Given the description of an element on the screen output the (x, y) to click on. 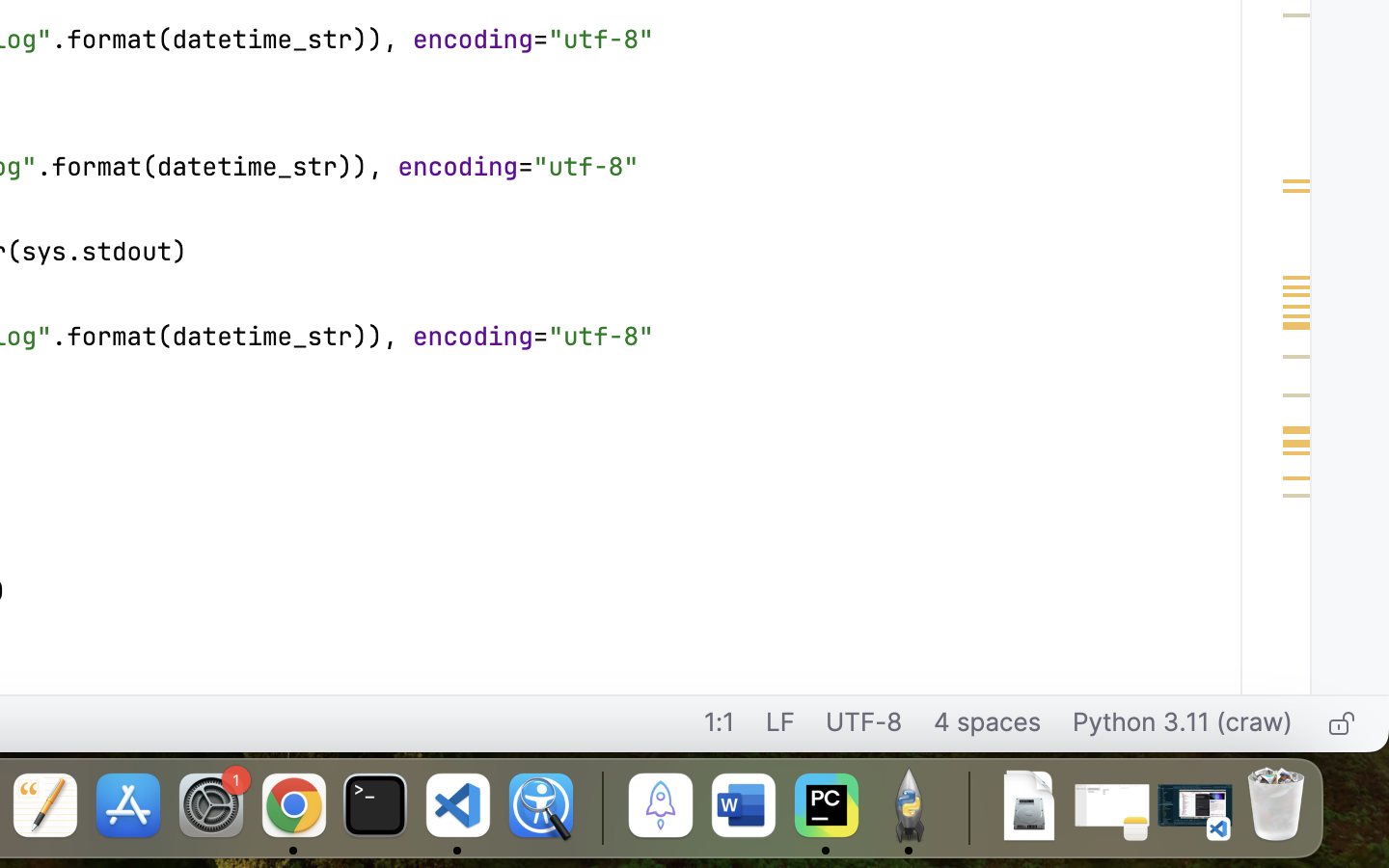
UTF-8 Element type: AXStaticText (864, 724)
4 spaces Element type: AXStaticText (987, 723)
Make file read-only Element type: AXStaticText (1338, 724)
0.4285714328289032 Element type: AXDockItem (598, 807)
1:1 Element type: AXStaticText (719, 724)
